Given the description of an element on the screen output the (x, y) to click on. 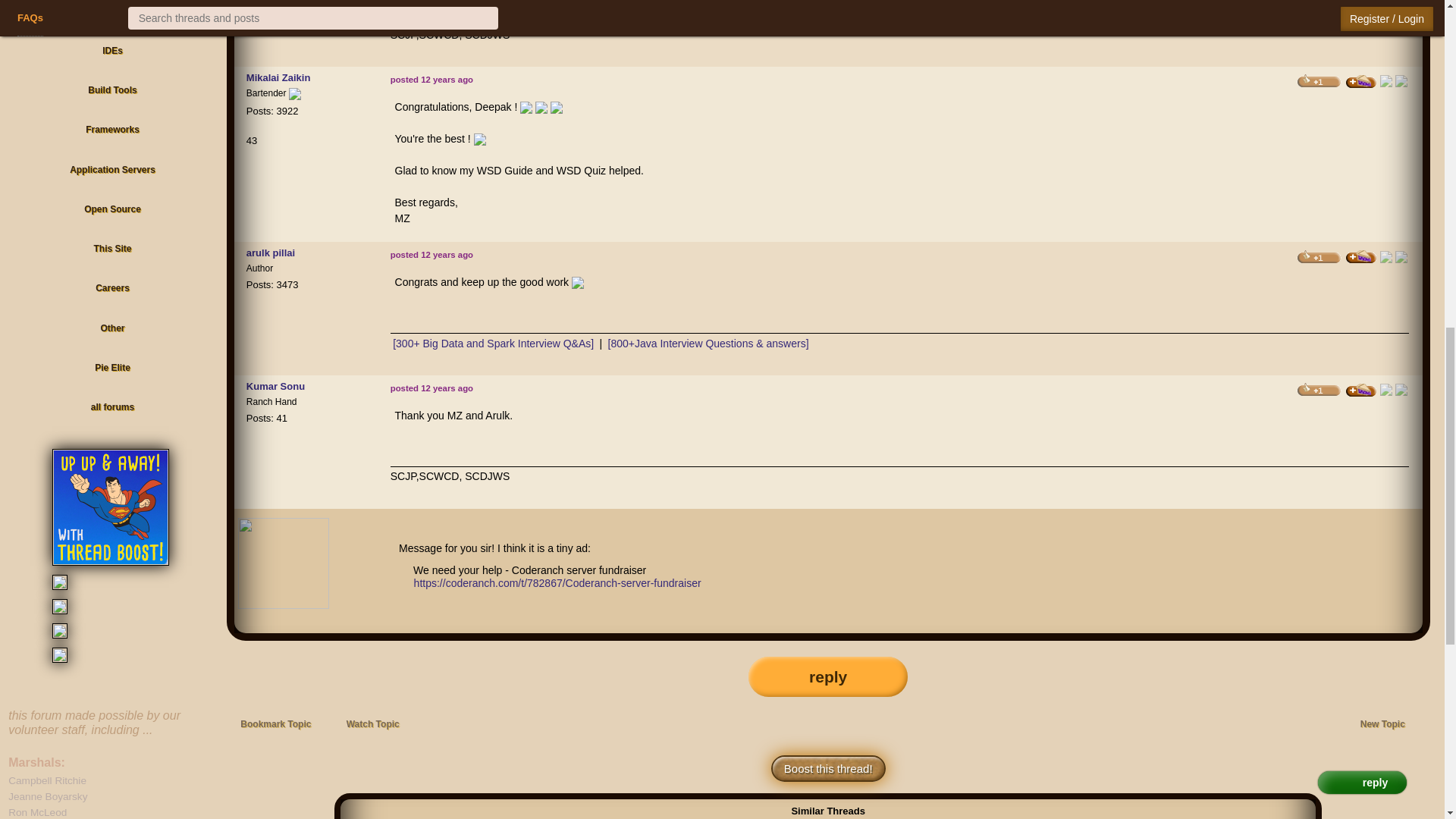
IDEs (112, 51)
Frameworks (112, 130)
Build Tools (112, 91)
Paradigms (112, 13)
